Given the description of an element on the screen output the (x, y) to click on. 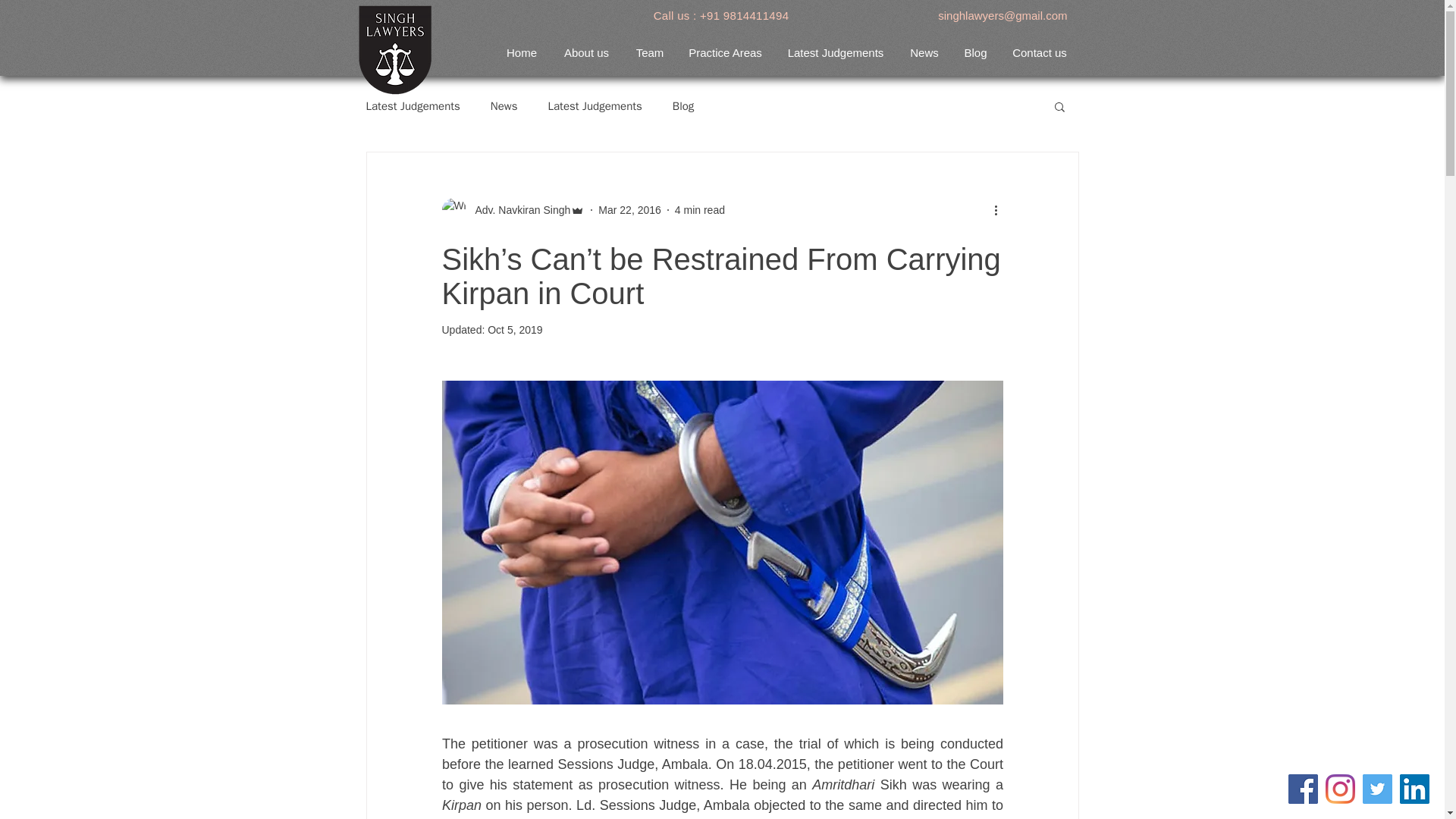
Oct 5, 2019 (514, 329)
Adv. Navkiran Singh (513, 209)
Latest Judgements (594, 105)
4 min read (700, 209)
Mar 22, 2016 (629, 209)
Blog (683, 105)
Latest Judgements (412, 105)
About us (586, 53)
Adv. Navkiran Singh (517, 209)
Contact us (1038, 53)
Home (521, 53)
Blog (974, 53)
News (925, 53)
Latest Judgements (834, 53)
News (504, 105)
